Given the description of an element on the screen output the (x, y) to click on. 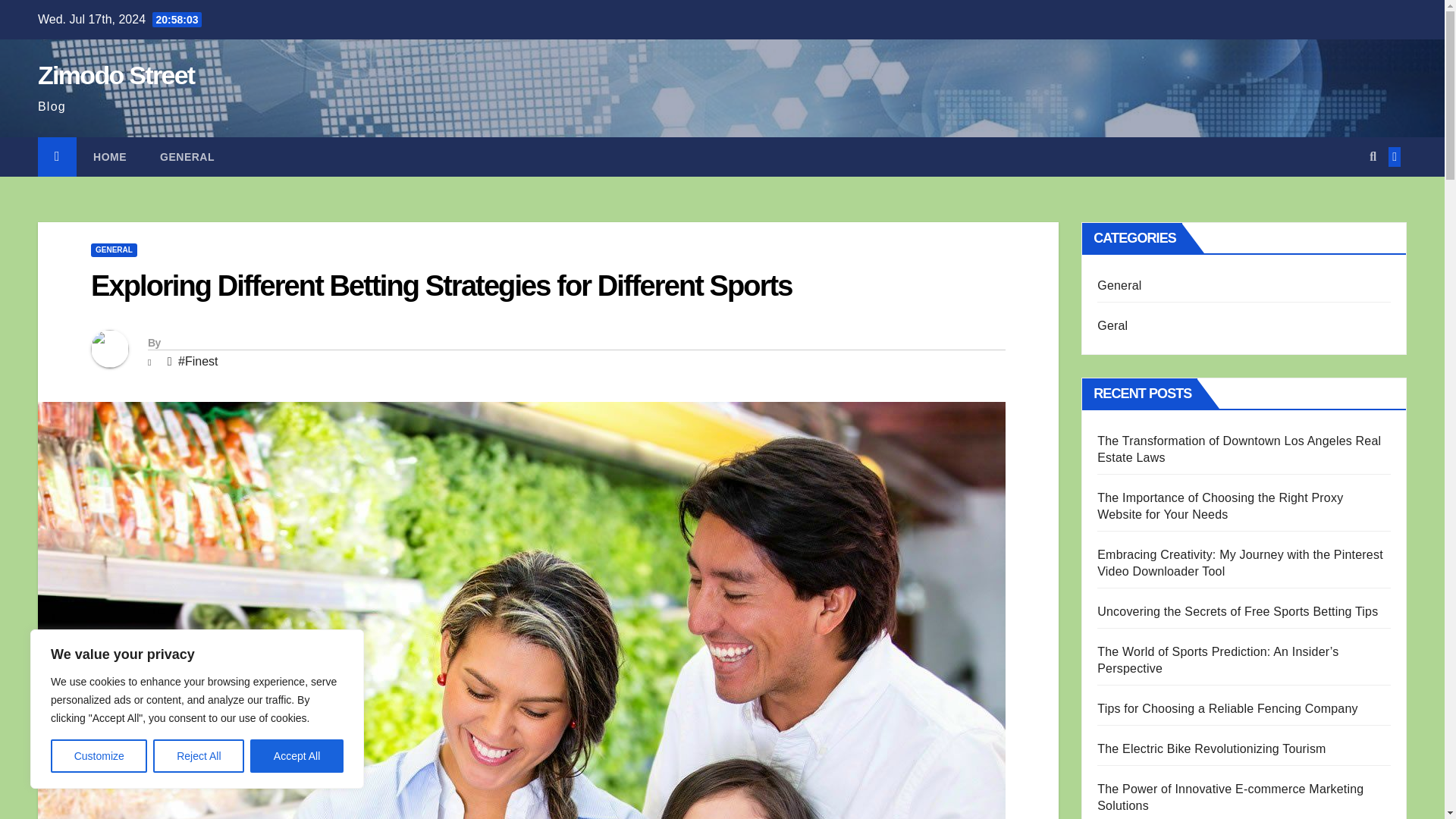
Customize (98, 756)
Reject All (198, 756)
Accept All (296, 756)
Zimodo Street (115, 74)
HOME (109, 156)
GENERAL (186, 156)
General (186, 156)
GENERAL (113, 250)
Exploring Different Betting Strategies for Different Sports (441, 286)
Home (109, 156)
